Given the description of an element on the screen output the (x, y) to click on. 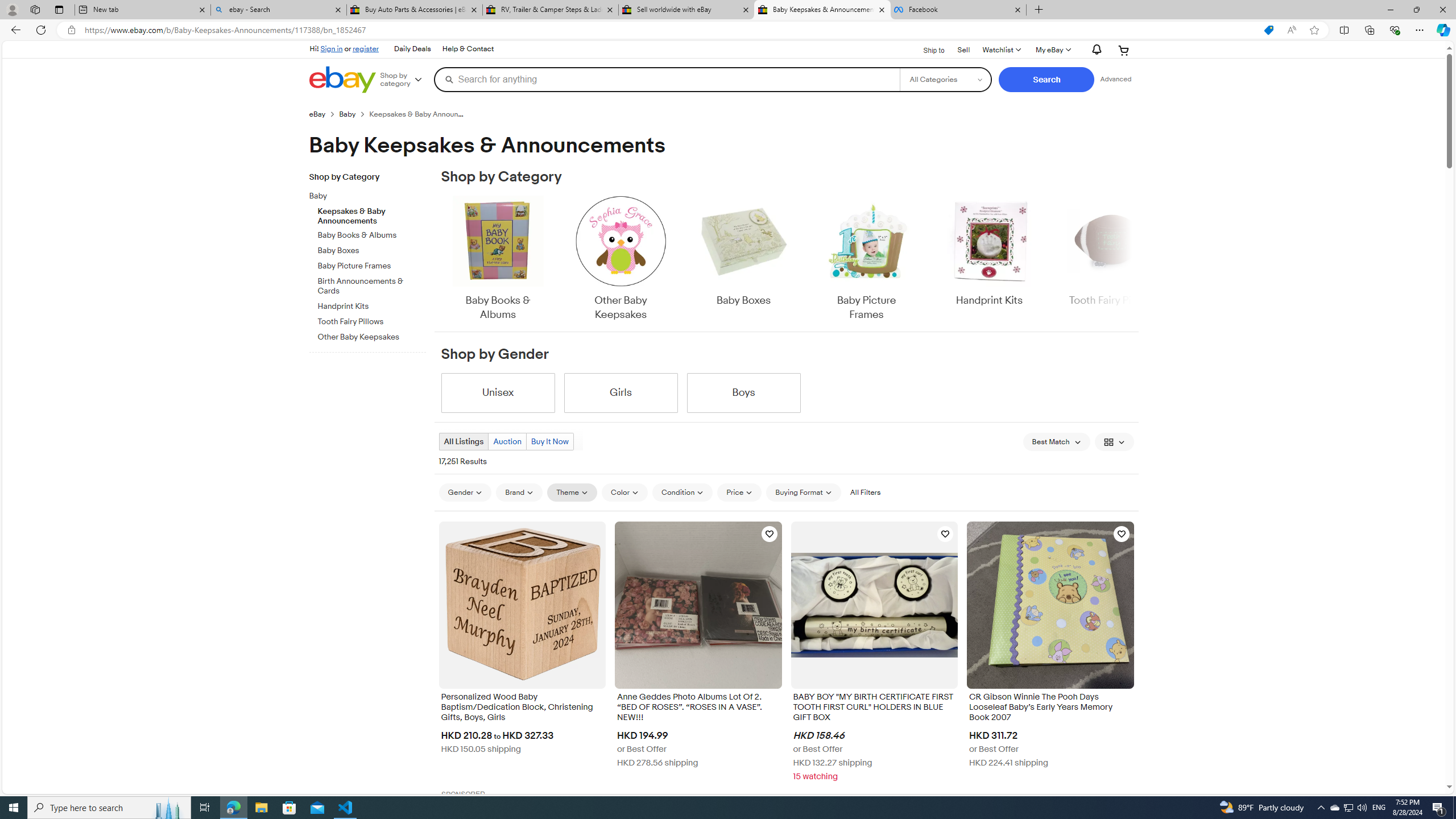
Sign in (331, 48)
Baby Books & Albums (497, 258)
Boys (742, 392)
Notifications (1093, 49)
Watchlist (1000, 49)
Go to next slide (1131, 258)
eBay Home (341, 79)
Brand (519, 492)
Buy It Now (549, 441)
Tooth Fairy Pillows (371, 319)
Brand (519, 492)
Auction (506, 441)
Baby Books & Albums (497, 258)
